Given the description of an element on the screen output the (x, y) to click on. 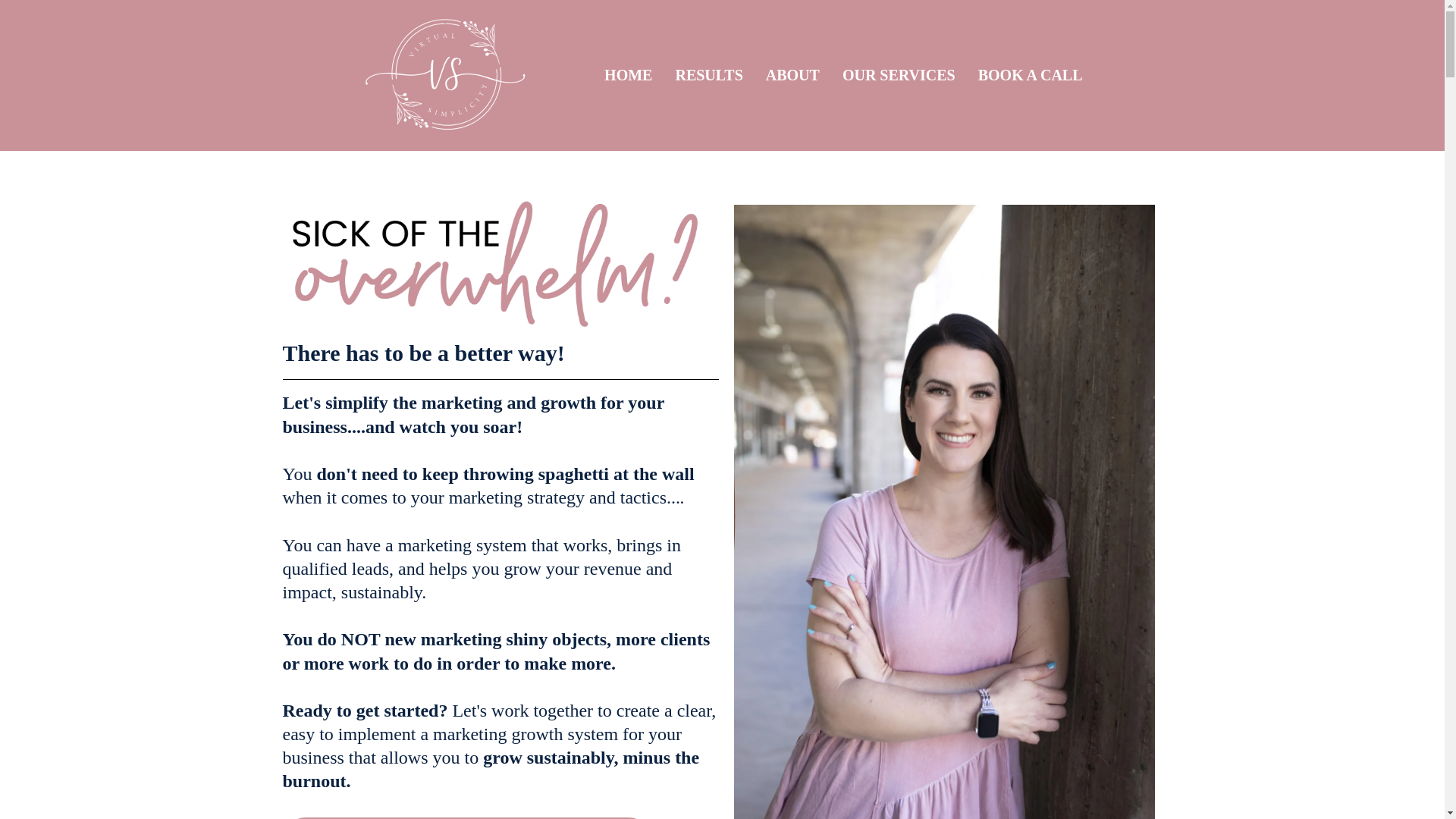
BOOK A CALL (1030, 74)
RESULTS (708, 74)
OUR SERVICES (898, 74)
HOME (627, 74)
ABOUT (792, 74)
